Given the description of an element on the screen output the (x, y) to click on. 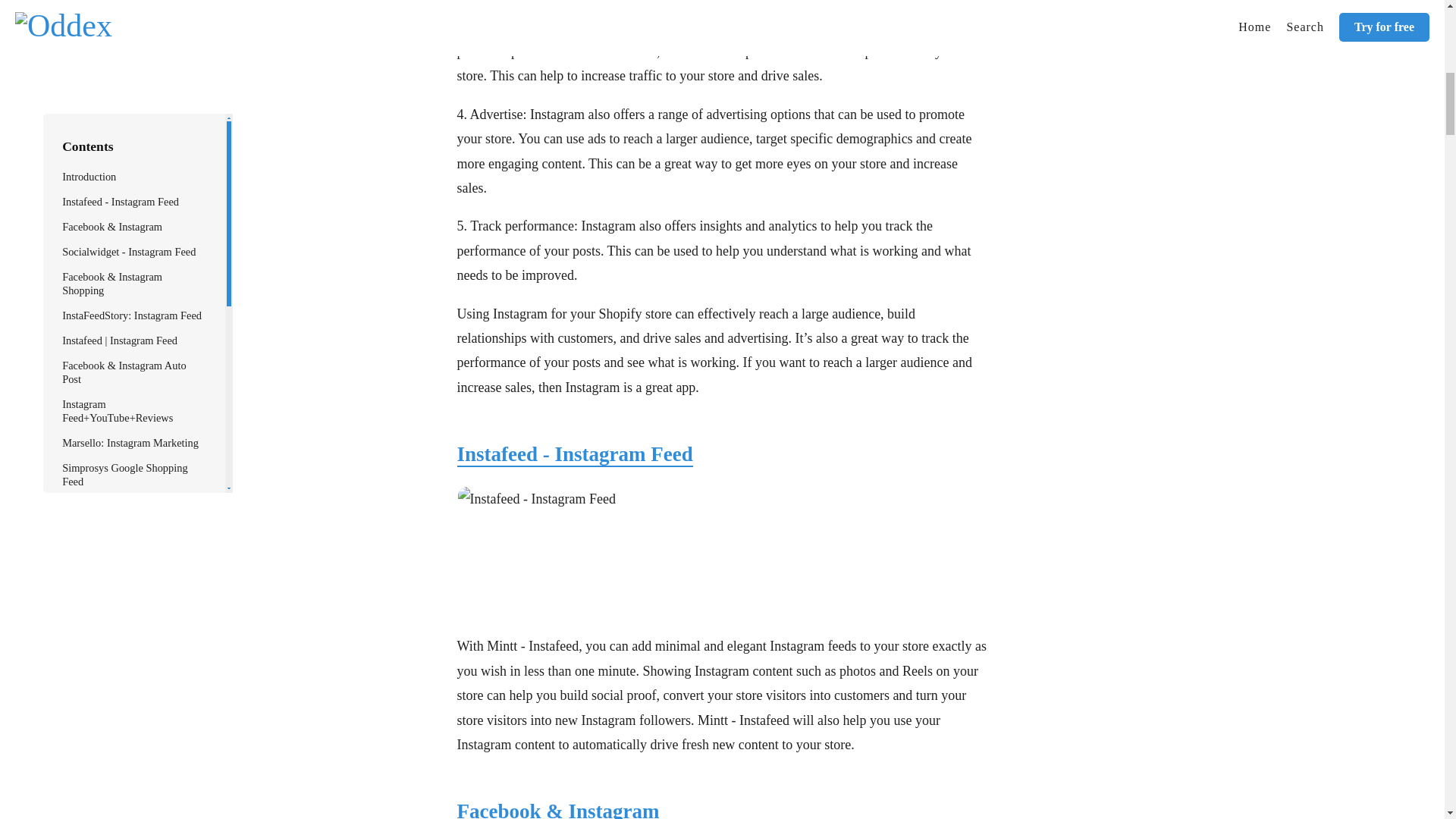
Conclusion (87, 4)
